Given the description of an element on the screen output the (x, y) to click on. 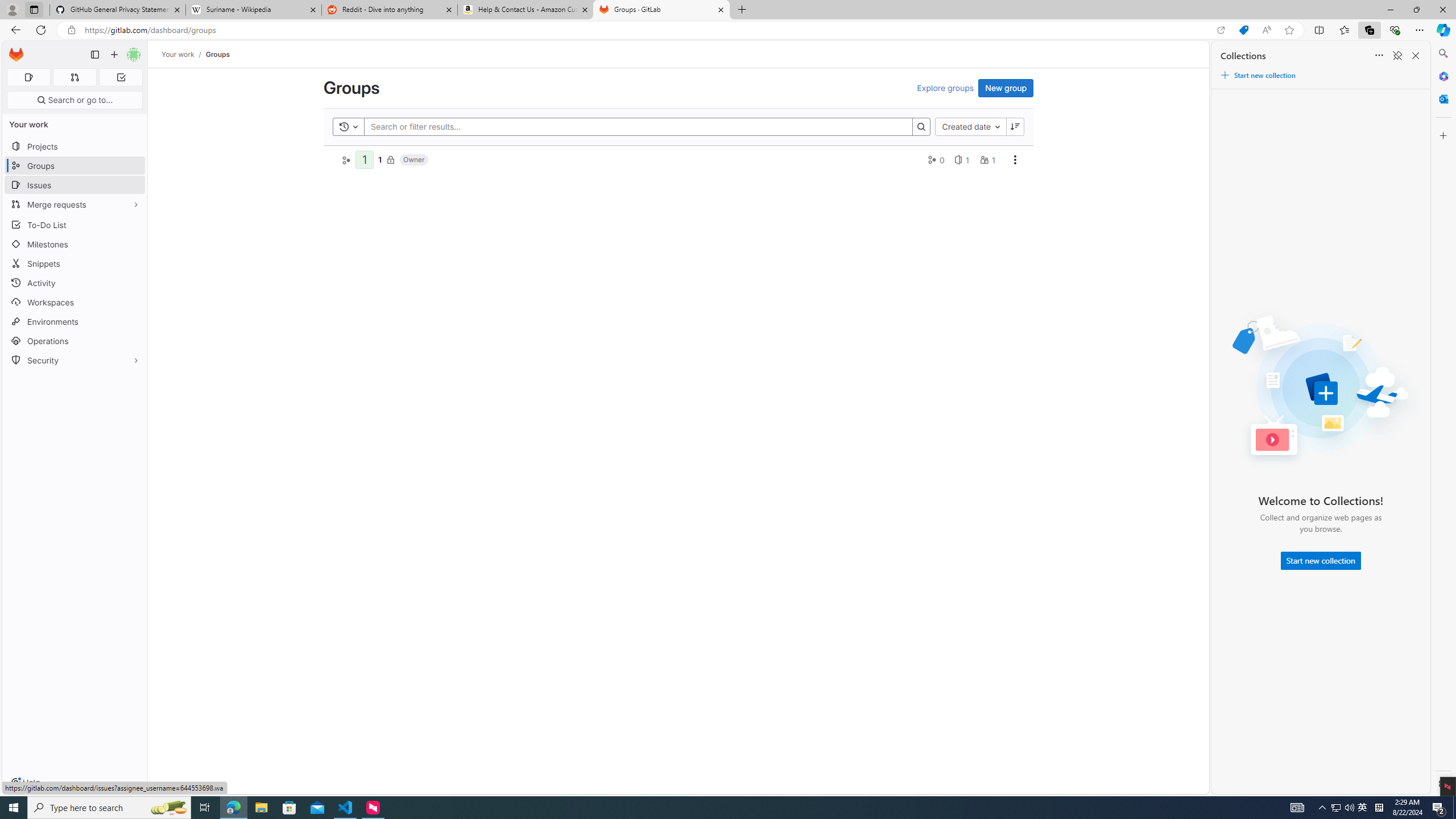
Merge requests (74, 203)
AutomationID: dropdown-toggle-btn-41 (1015, 158)
Milestones (74, 244)
Suriname - Wikipedia (253, 9)
Open in app (1220, 29)
Created date (970, 126)
Security (74, 359)
Security (74, 359)
Your work/ (183, 53)
Projects (74, 145)
